Given the description of an element on the screen output the (x, y) to click on. 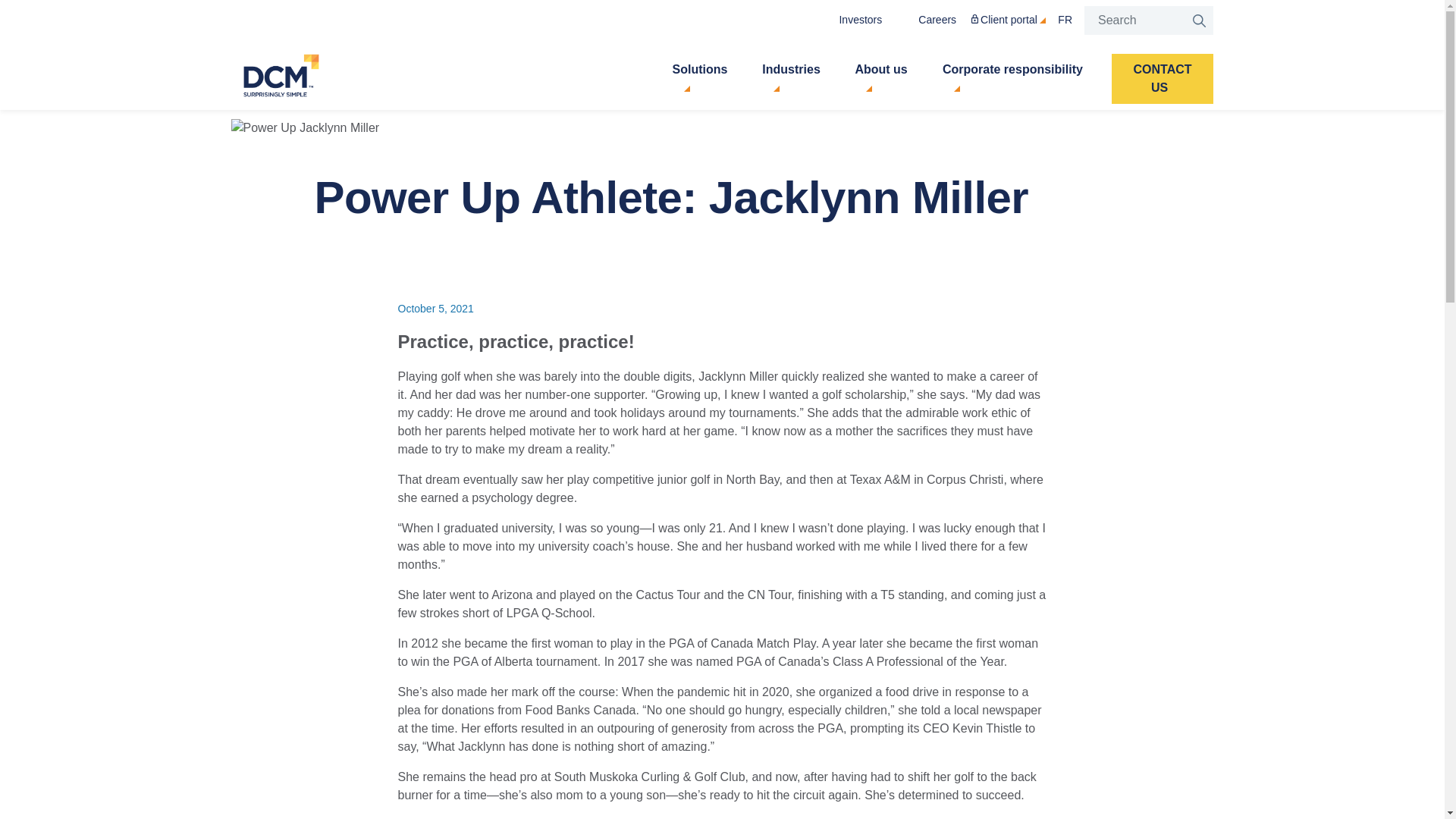
Investors (854, 19)
CONTACT US (1163, 79)
Corporate responsibility (1012, 78)
Solutions (698, 78)
About us (880, 78)
Client portal (1006, 19)
Submit (1198, 20)
Industries (790, 78)
Careers (930, 19)
